Given the description of an element on the screen output the (x, y) to click on. 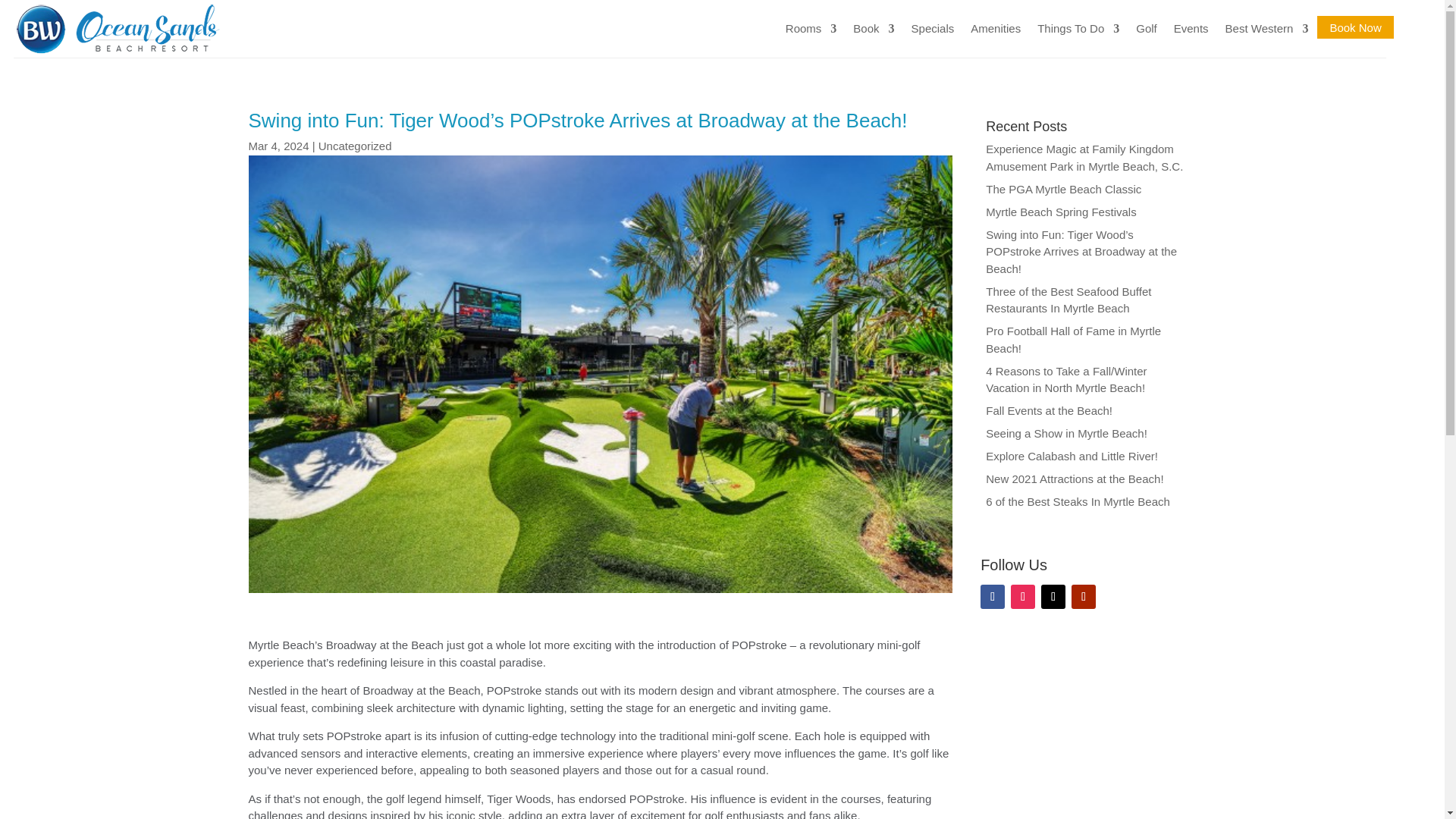
Follow on Youtube (1083, 596)
Things To Do (1077, 28)
Rooms (811, 28)
Book Now (1354, 27)
Follow on X (1053, 596)
Follow on Facebook (991, 596)
Best Western (1266, 28)
Follow on Instagram (1022, 596)
